Given the description of an element on the screen output the (x, y) to click on. 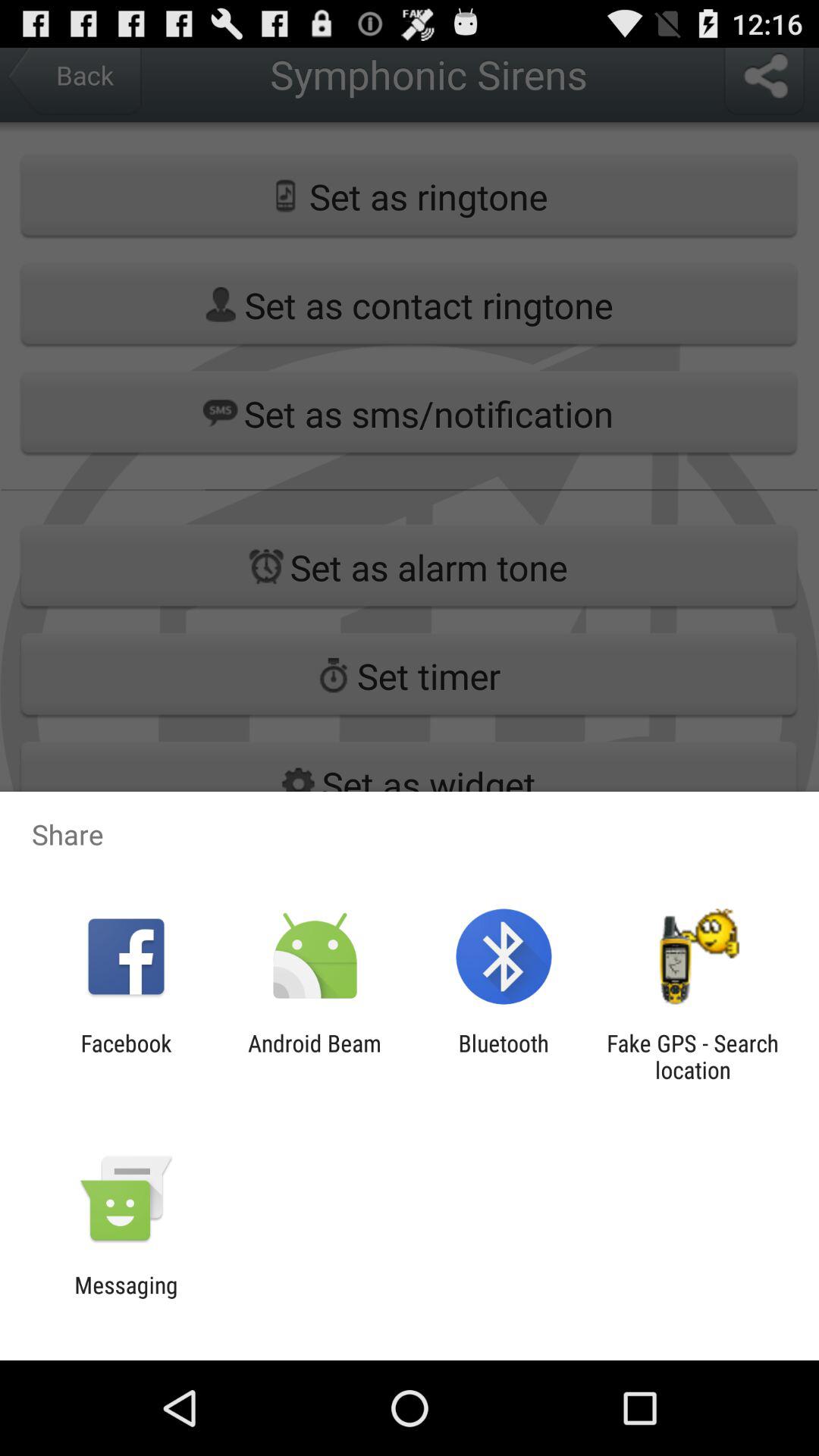
turn on icon next to the android beam icon (125, 1056)
